Given the description of an element on the screen output the (x, y) to click on. 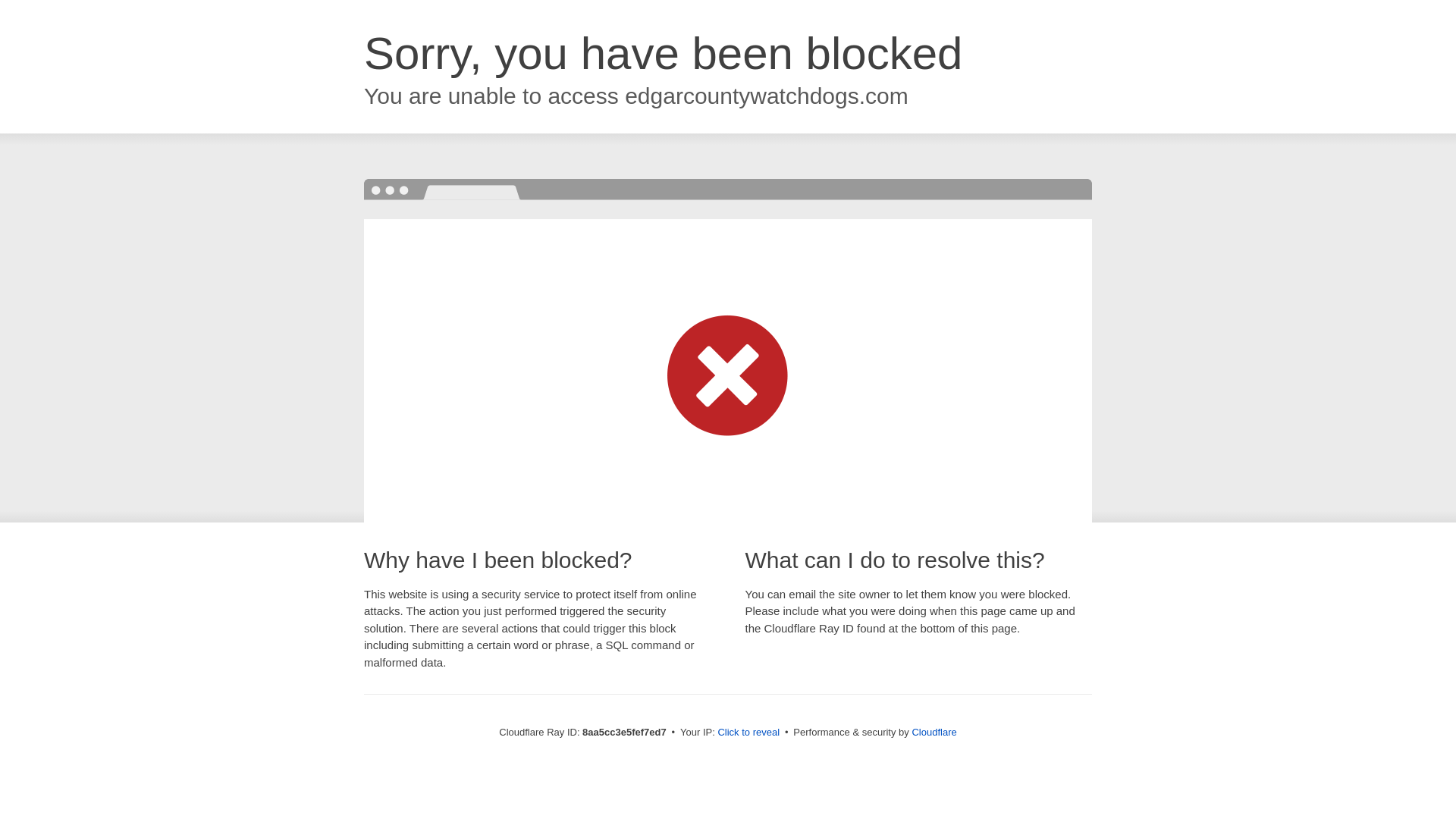
Cloudflare (933, 731)
Click to reveal (747, 732)
